Given the description of an element on the screen output the (x, y) to click on. 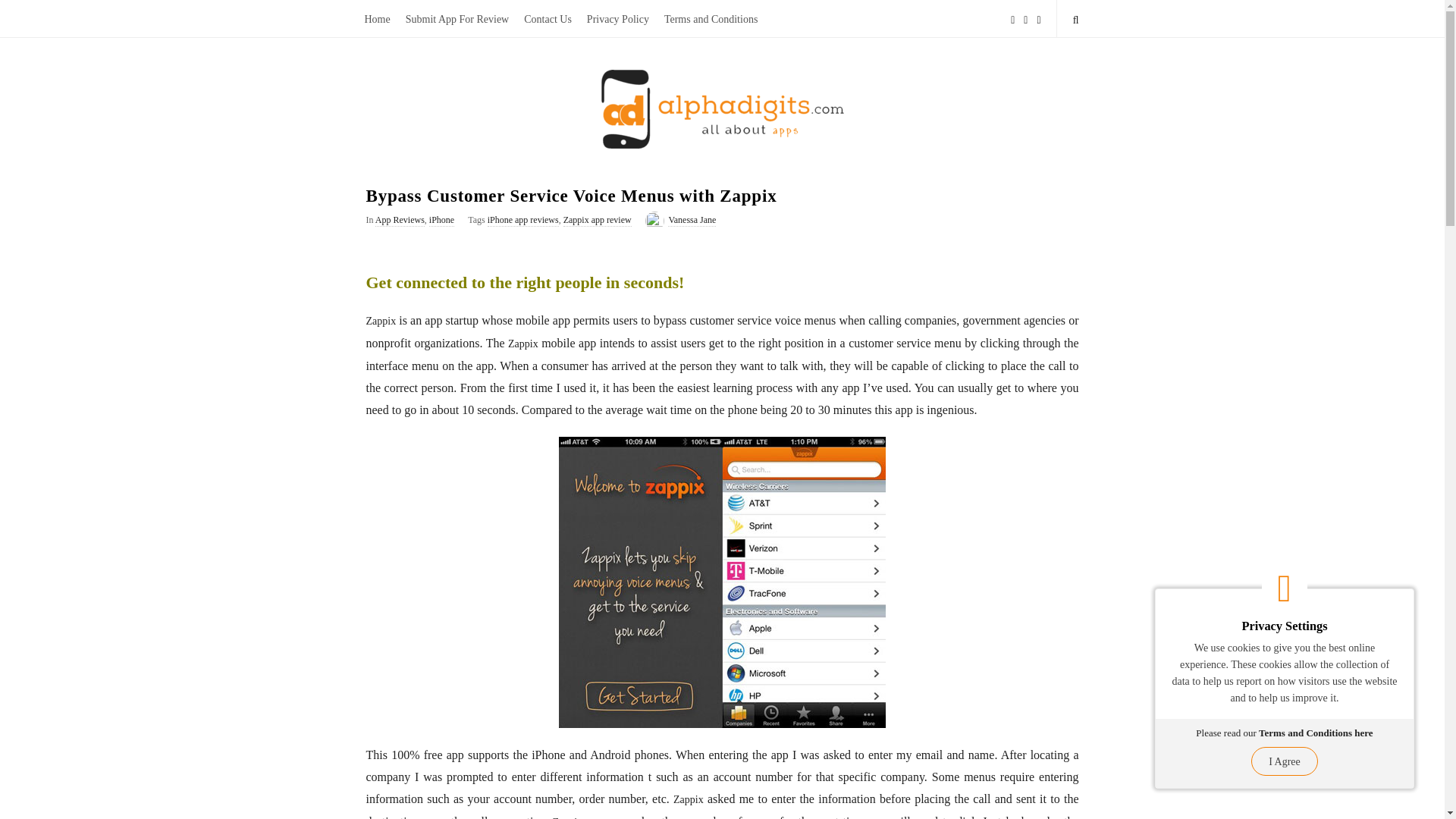
iPhone (441, 220)
Facebook (1012, 18)
Twitter (1025, 18)
App Reviews (400, 220)
Contact Us (547, 18)
Zappix app review (597, 220)
Home (376, 18)
Submit App For Review (456, 18)
Terms and Conditions (710, 18)
Vanessa Jane (692, 220)
Privacy Policy (617, 18)
Google Plus (1038, 18)
iPhone app reviews (523, 220)
